Given the description of an element on the screen output the (x, y) to click on. 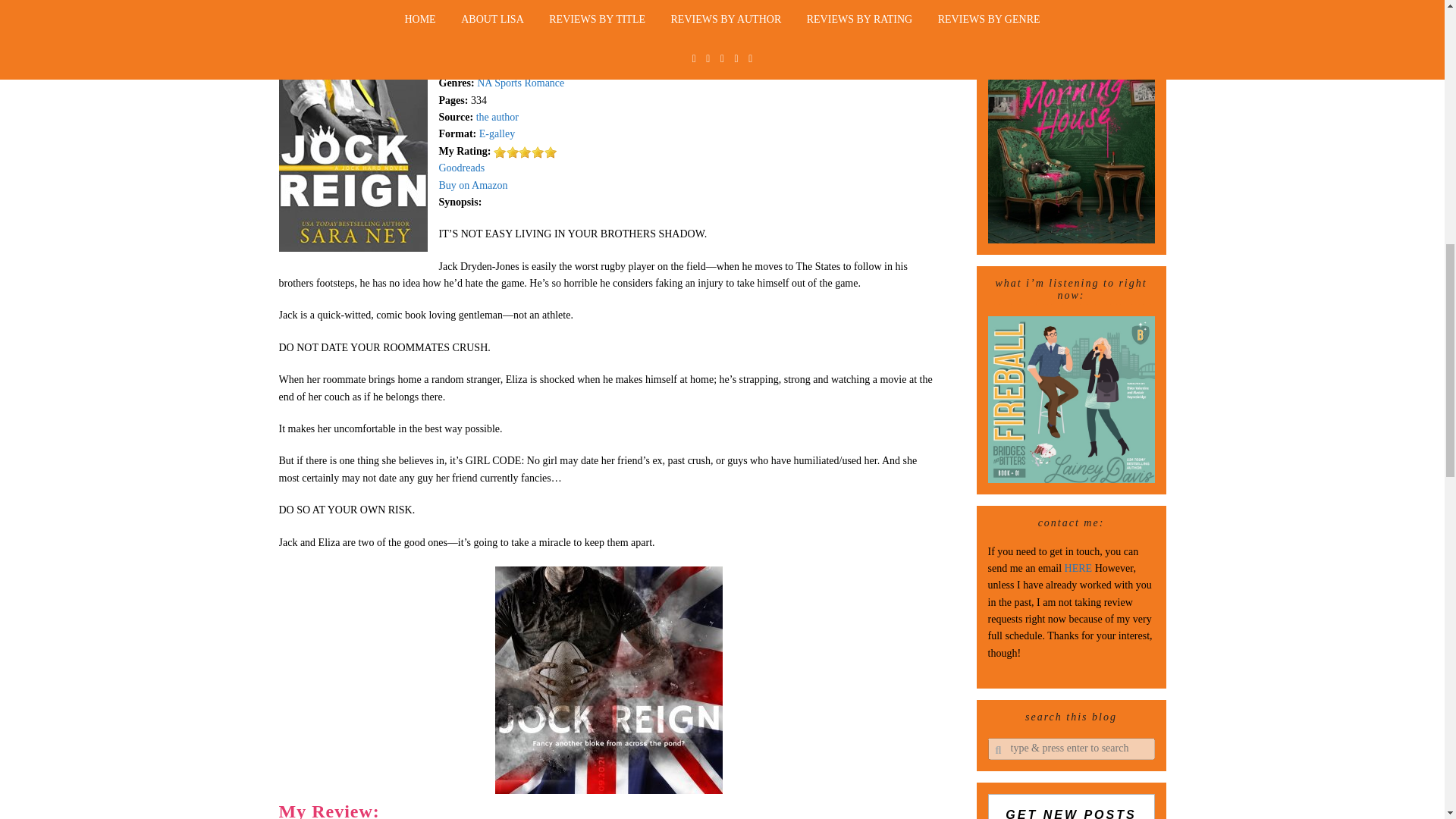
Website (542, 813)
Twitter (680, 813)
Jock Royal (570, 172)
Pinterest (780, 813)
GoodreadsBookBub (849, 813)
Facebook (587, 813)
Newsletter (494, 813)
Instagram (636, 813)
Subscribe (1071, 232)
